Given the description of an element on the screen output the (x, y) to click on. 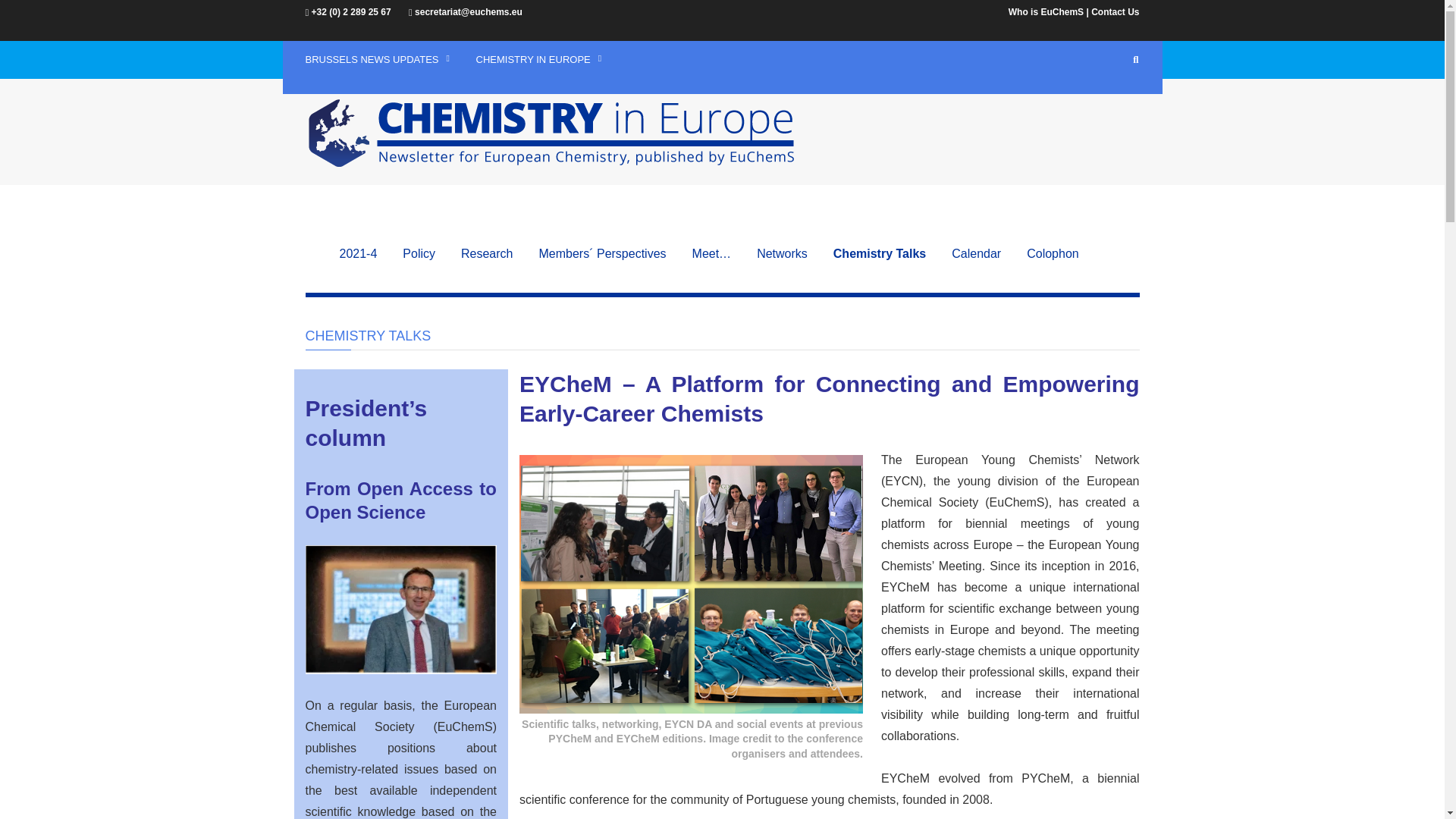
CHEMISTRY IN EUROPE (539, 59)
Who is EuChemS (1046, 11)
Contact Us (1114, 11)
Policy (432, 253)
BRUSSELS NEWS UPDATES (379, 59)
2021-4 (371, 253)
Research (499, 253)
